Given the description of an element on the screen output the (x, y) to click on. 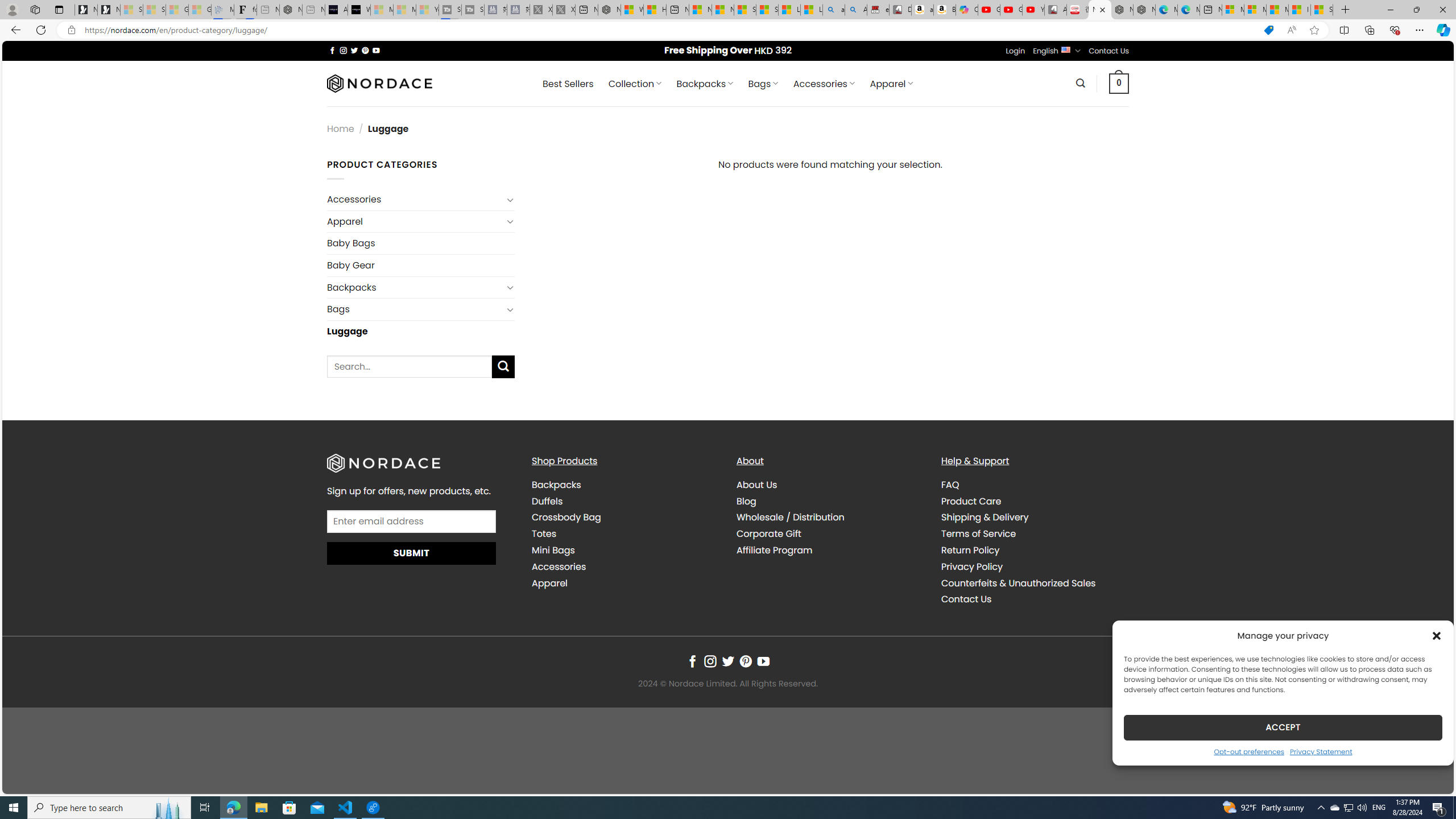
Corporate Gift (768, 533)
Product Care (1034, 501)
Mini Bags (625, 549)
Duffels (547, 500)
Luggage (421, 331)
Totes (543, 533)
amazon.in/dp/B0CX59H5W7/?tag=gsmcom05-21 (923, 9)
Submit (411, 553)
Microsoft Start Sports - Sleeping (381, 9)
